Given the description of an element on the screen output the (x, y) to click on. 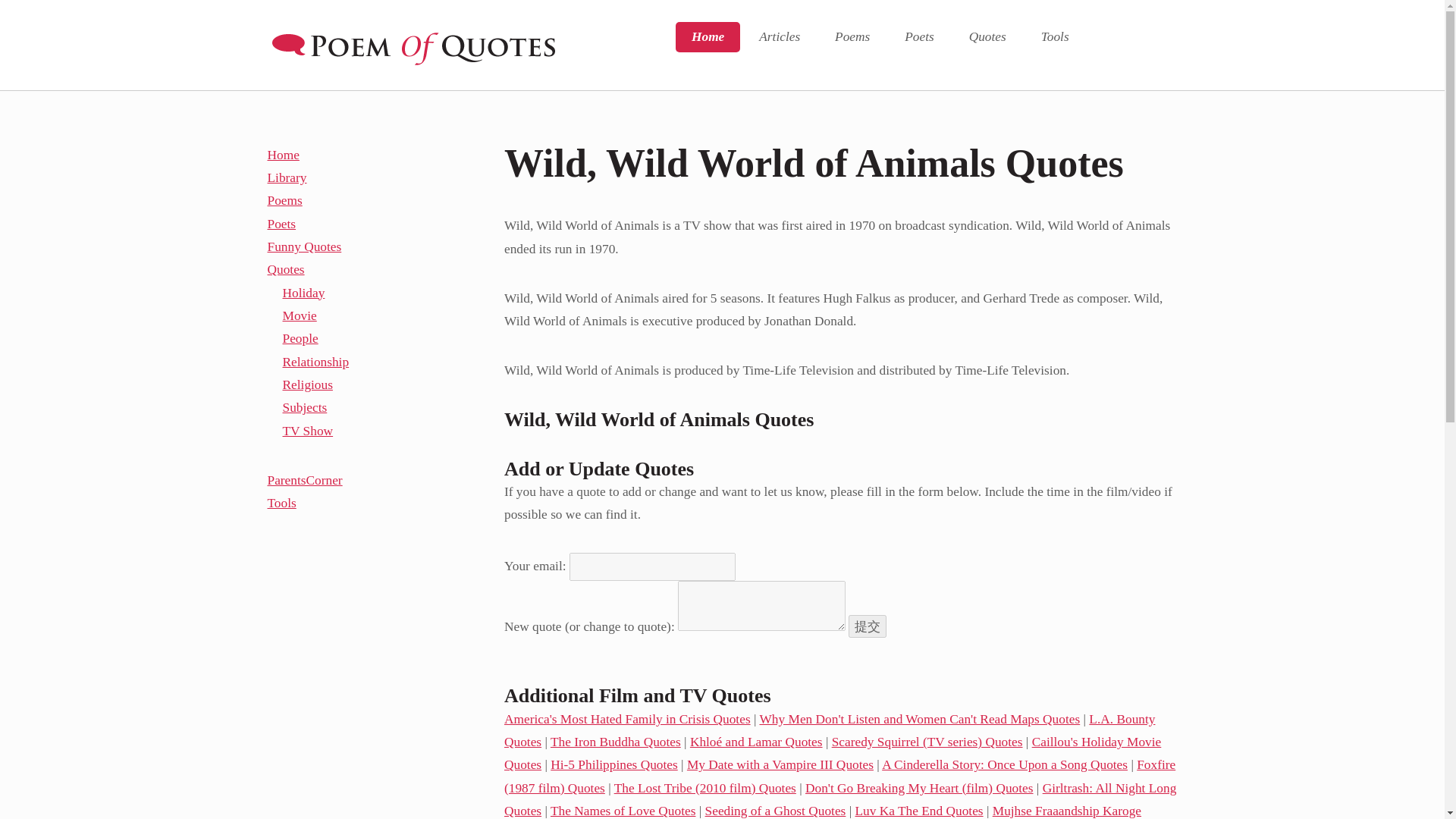
Home (707, 37)
Articles (778, 37)
Poems (851, 37)
Quotes (987, 37)
Poets (918, 37)
